Given the description of an element on the screen output the (x, y) to click on. 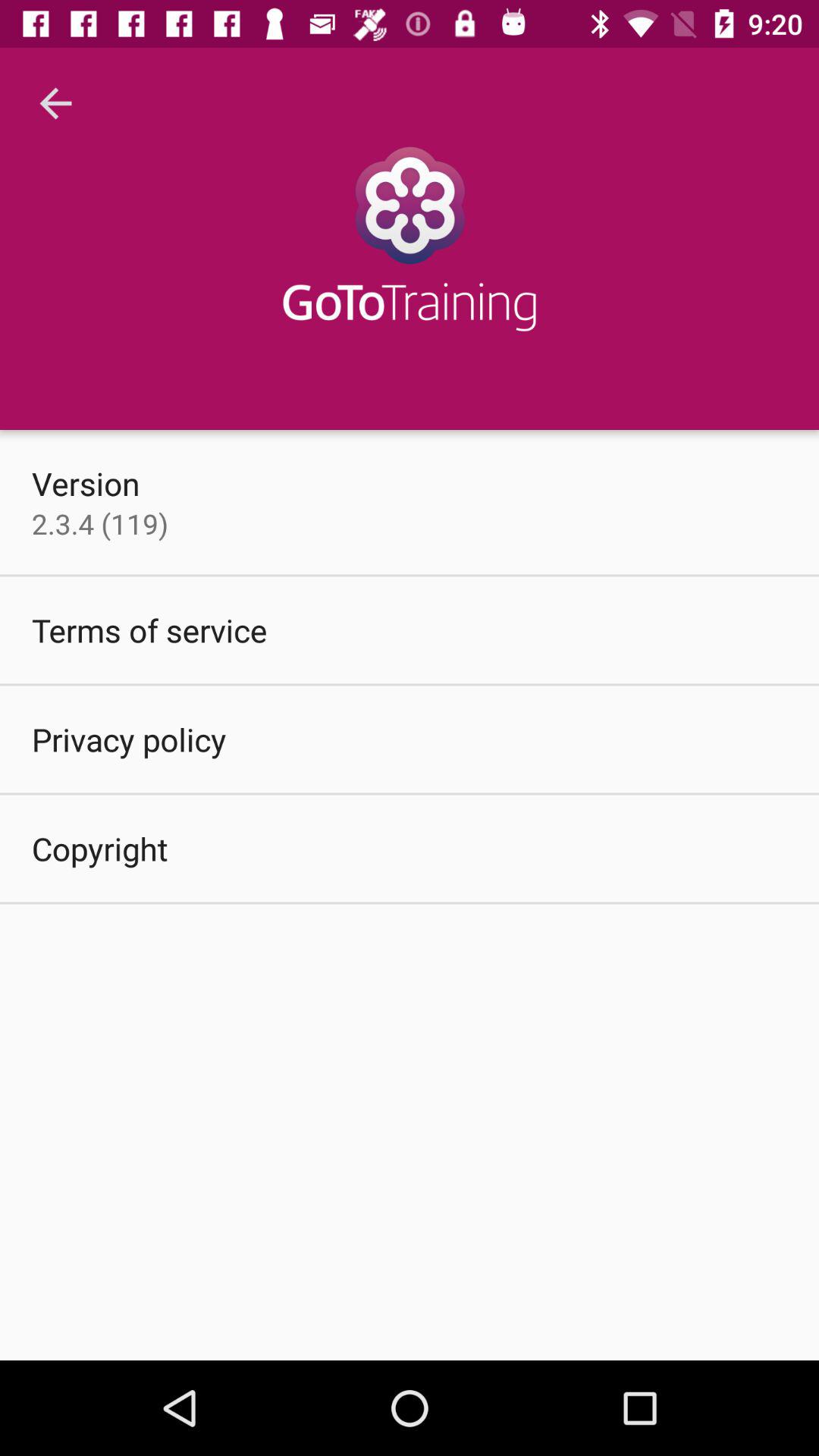
flip until privacy policy icon (128, 738)
